Given the description of an element on the screen output the (x, y) to click on. 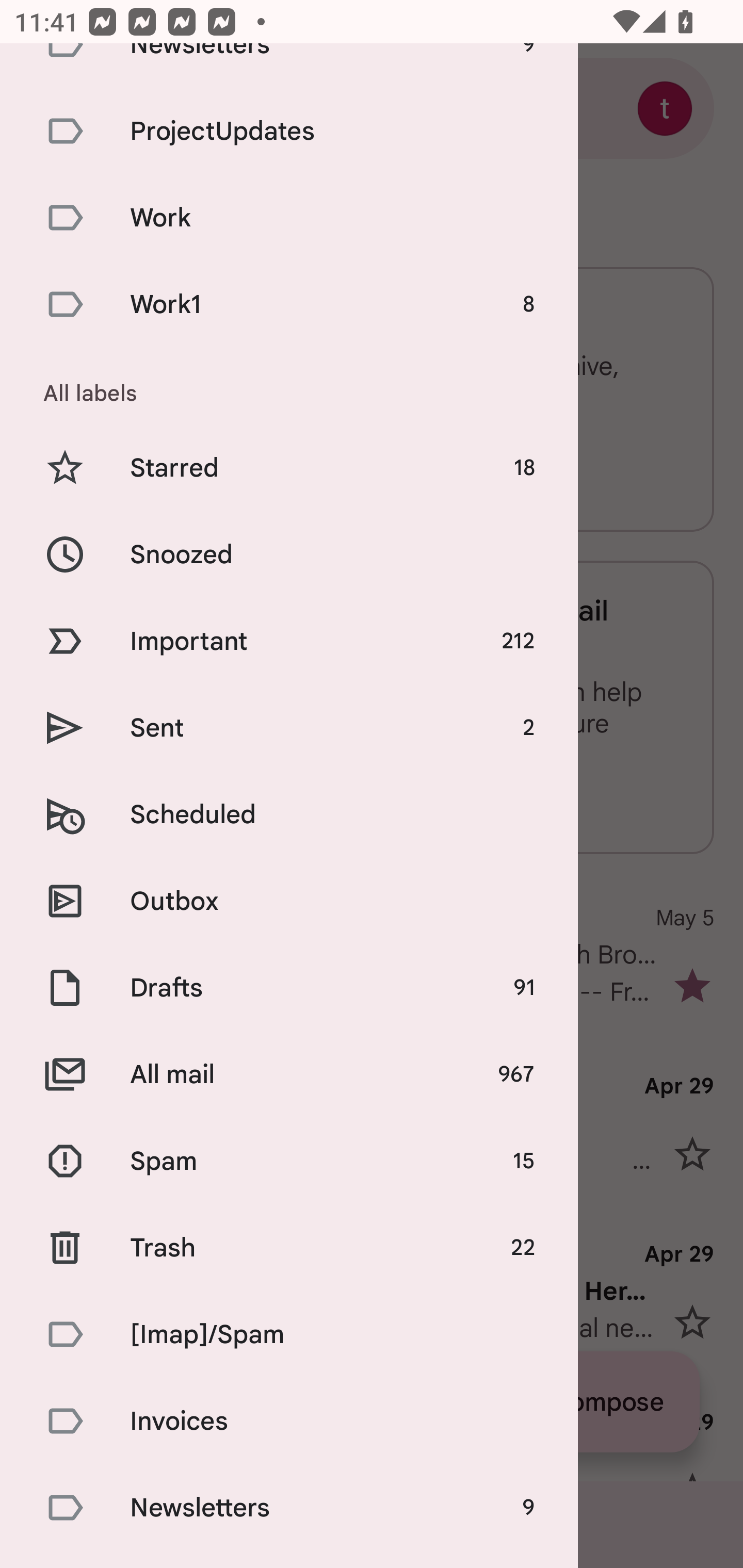
ProjectUpdates (289, 130)
Work (289, 217)
Work1 8 (289, 304)
Starred 18 (289, 467)
Snoozed (289, 554)
Important 212 (289, 641)
Sent 2 (289, 728)
Scheduled (289, 814)
Outbox (289, 900)
Drafts 91 (289, 987)
All mail 967 (289, 1074)
Spam 15 (289, 1160)
Trash 22 (289, 1247)
[Imap]/Spam (289, 1334)
Invoices (289, 1421)
Newsletters 9 (289, 1507)
